Given the description of an element on the screen output the (x, y) to click on. 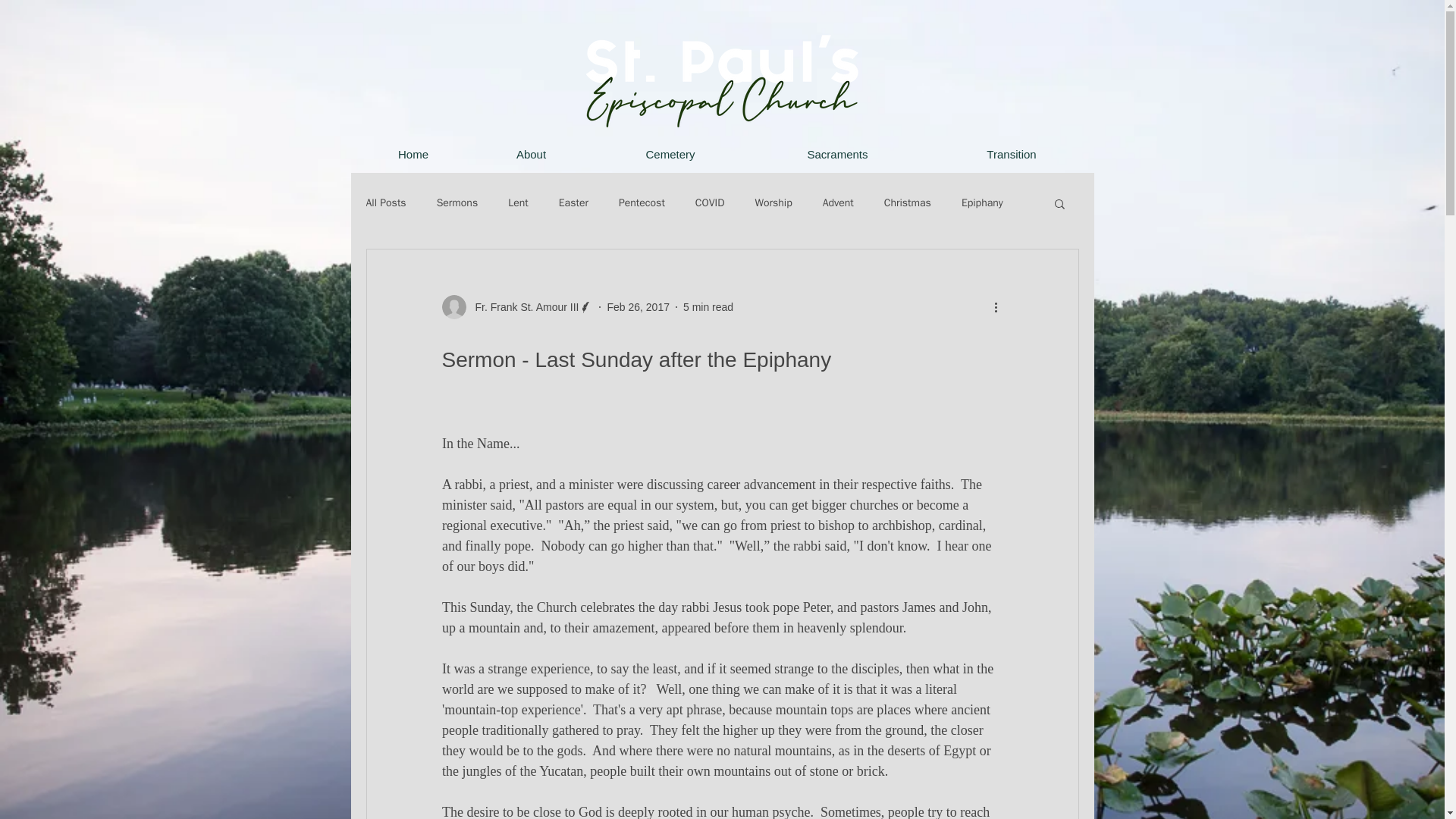
Easter (573, 202)
Transition (1011, 154)
Feb 26, 2017 (638, 306)
Worship (773, 202)
COVID (710, 202)
Sermons (457, 202)
All Posts (385, 202)
Fr. Frank St. Amour III (516, 306)
Pentecost (641, 202)
Epiphany (981, 202)
